Given the description of an element on the screen output the (x, y) to click on. 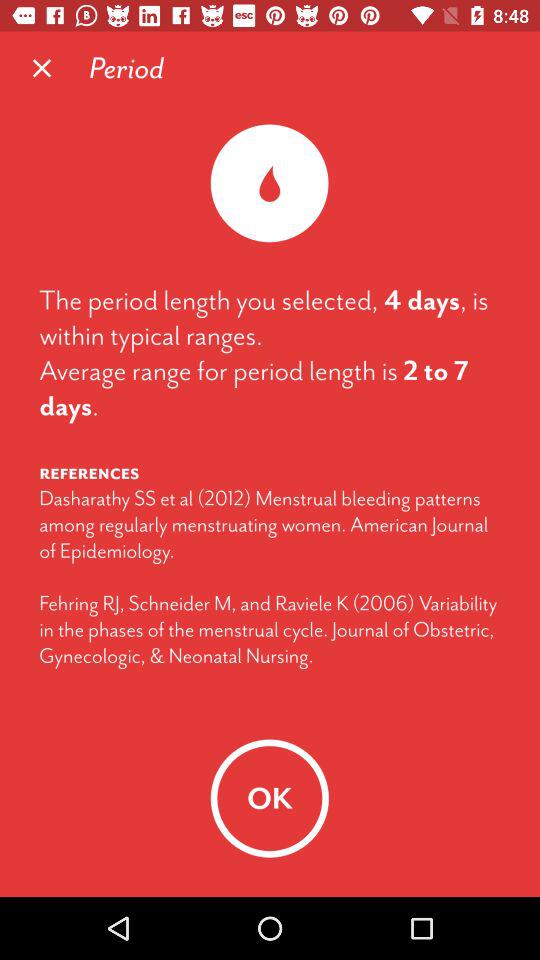
close widget (42, 68)
